Given the description of an element on the screen output the (x, y) to click on. 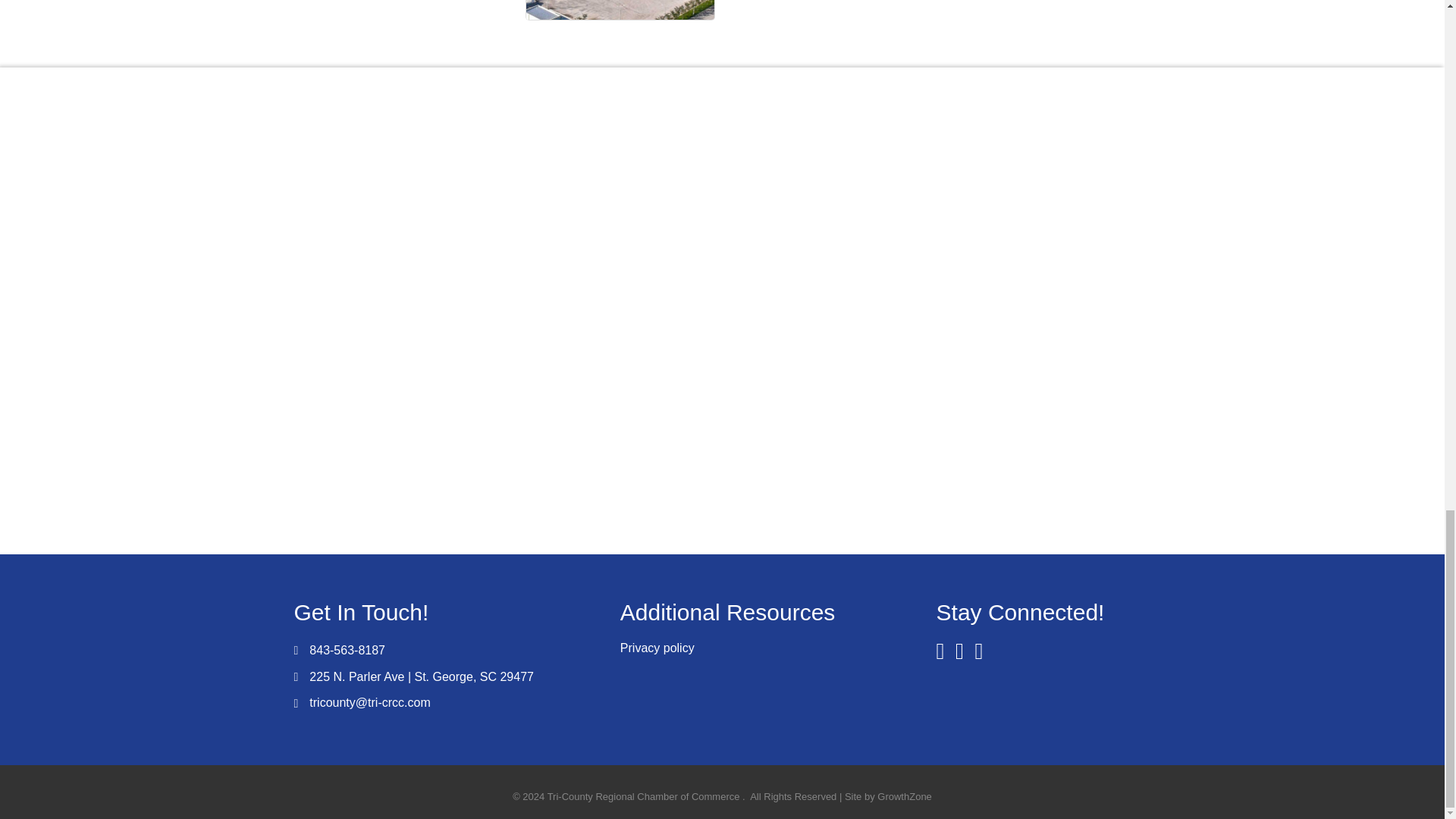
Gallery Image 2.jpg (619, 9)
